Given the description of an element on the screen output the (x, y) to click on. 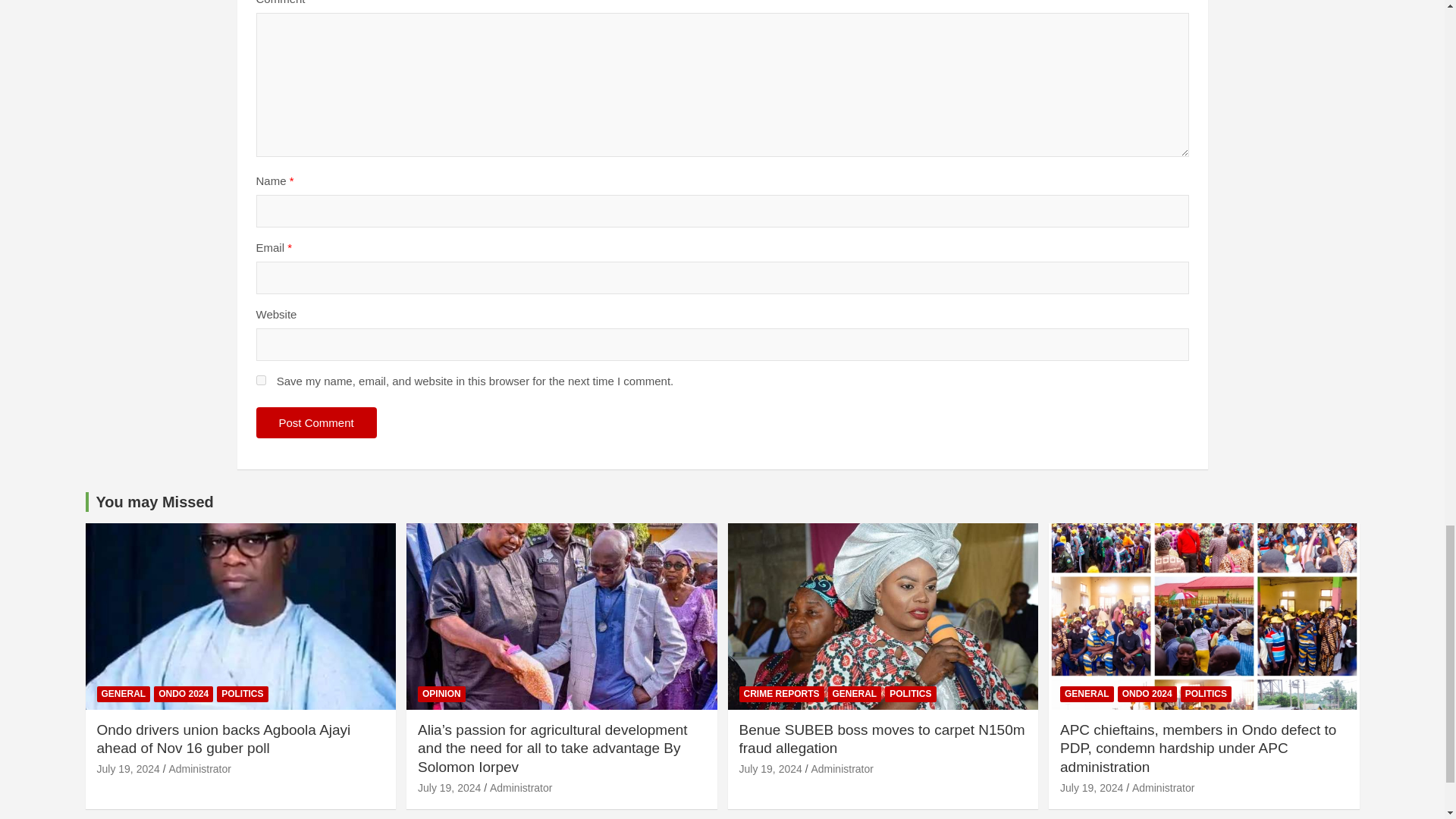
Benue SUBEB boss moves to carpet N150m fraud allegation (770, 768)
OPINION (441, 693)
ONDO 2024 (183, 693)
July 19, 2024 (128, 768)
Administrator (199, 768)
July 19, 2024 (448, 787)
You may Missed (154, 501)
Post Comment (316, 422)
Administrator (520, 787)
yes (261, 379)
Post Comment (316, 422)
POLITICS (241, 693)
